Given the description of an element on the screen output the (x, y) to click on. 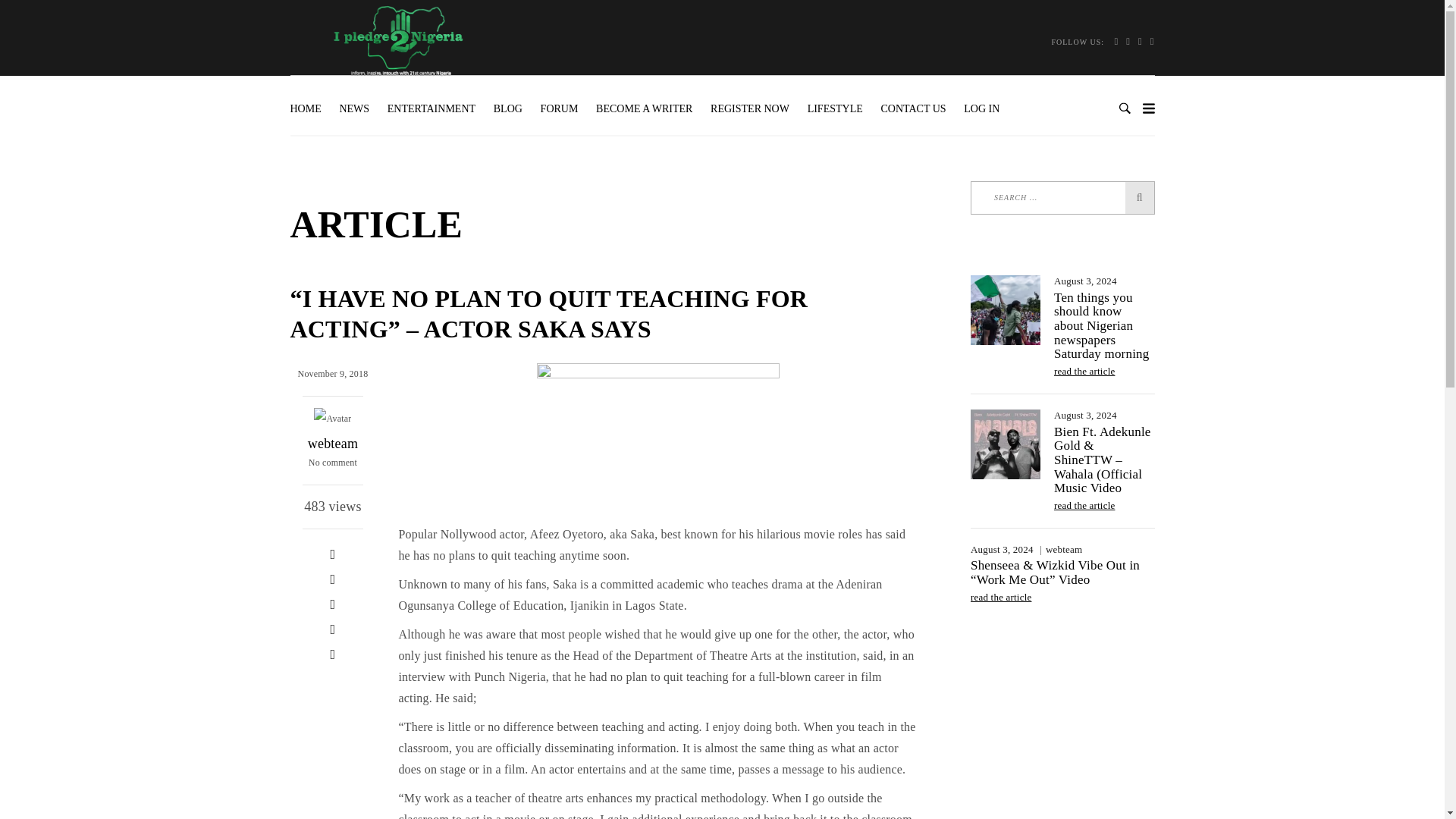
webteam (332, 443)
LIFESTYLE (834, 108)
ENTERTAINMENT (431, 108)
BLOG (507, 108)
LOG IN (981, 108)
HOME (309, 108)
BECOME A WRITER (644, 108)
FORUM (559, 108)
CONTACT US (912, 108)
REGISTER NOW (749, 108)
Facebook (332, 554)
NEWS (354, 108)
